Given the description of an element on the screen output the (x, y) to click on. 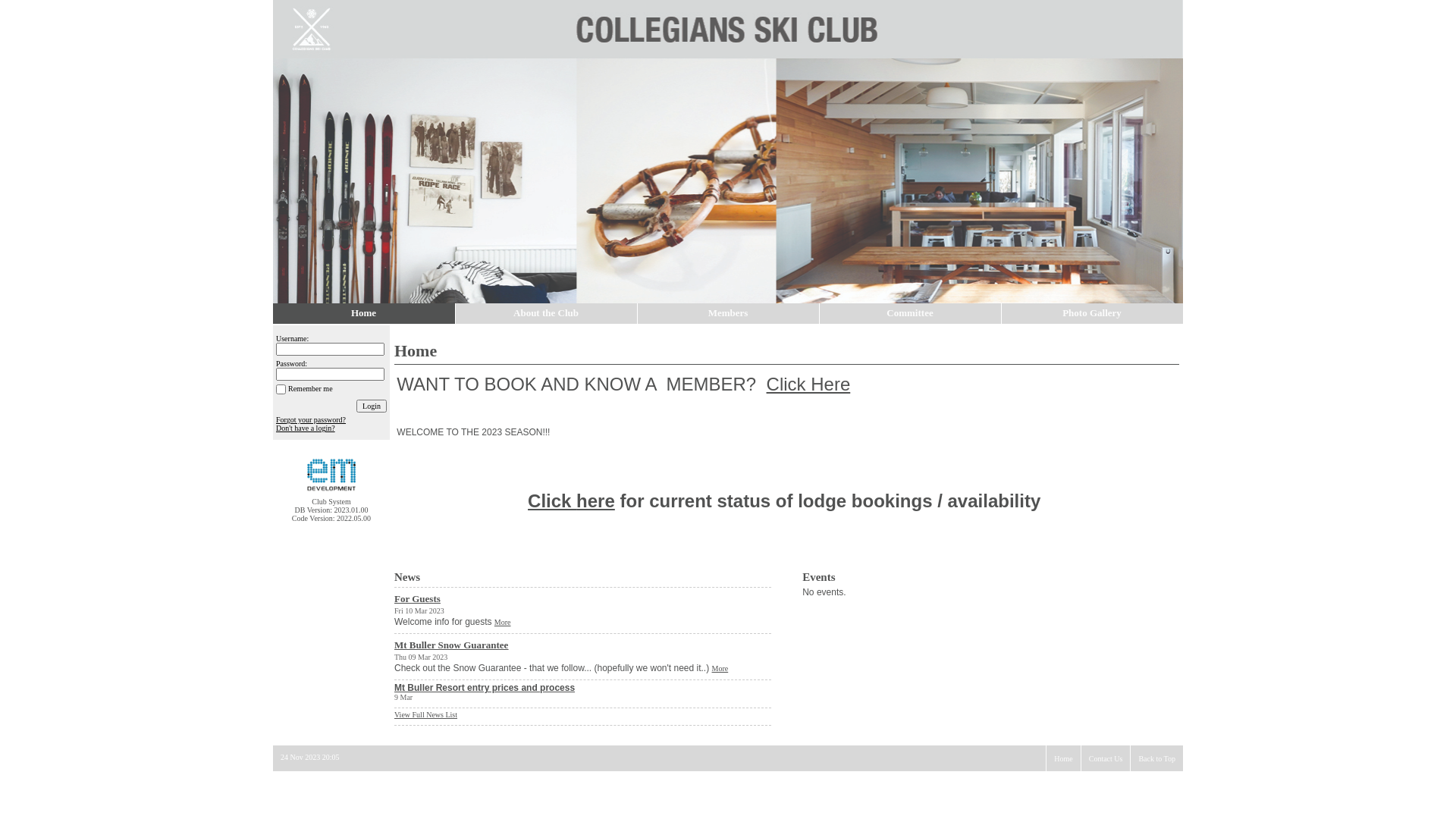
View Full News List Element type: text (425, 714)
Mt Buller Snow Guarantee Element type: text (582, 645)
Click Here Element type: text (808, 383)
Don't have a login? Element type: text (305, 427)
More Element type: text (720, 668)
Contact Us Element type: text (1105, 758)
Members Element type: text (728, 313)
About the Club Element type: text (546, 313)
Committee Element type: text (910, 313)
For Guests Element type: text (582, 599)
Forgot your password? Element type: text (310, 419)
Photo Gallery Element type: text (1092, 313)
Click Element type: text (551, 500)
More Element type: text (502, 622)
Back to Top Element type: text (1156, 758)
Mt Buller Resort entry prices and process Element type: text (484, 687)
Home Element type: text (364, 313)
here Element type: text (595, 500)
Home Element type: text (1063, 758)
Login Element type: text (371, 405)
